Given the description of an element on the screen output the (x, y) to click on. 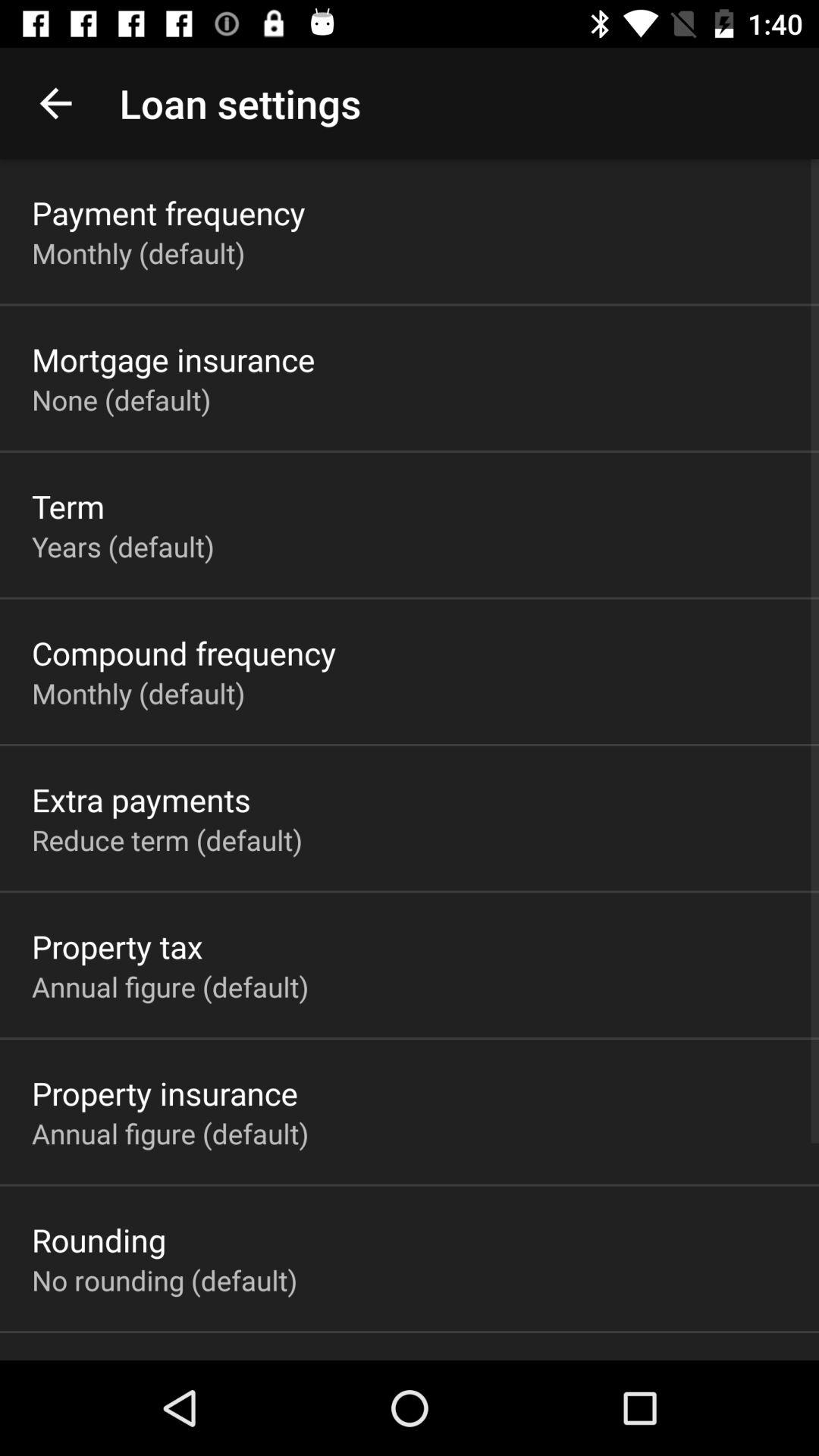
turn off the extra payments icon (140, 799)
